Given the description of an element on the screen output the (x, y) to click on. 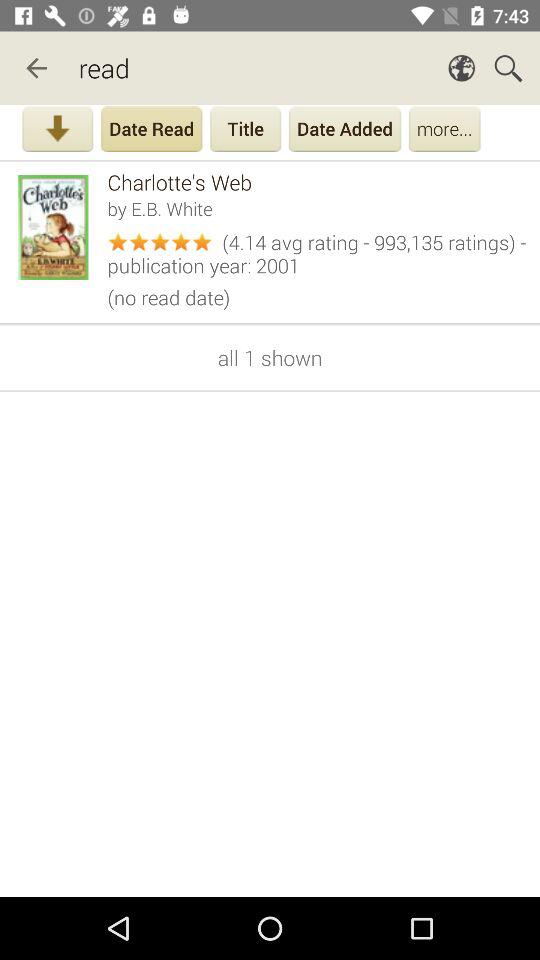
select the icon which is before search button on page (461, 68)
click on the picture which is below the downside arrow (57, 227)
click on date read (151, 131)
click on title button (245, 131)
select search icon at the right side of the page (508, 68)
